Given the description of an element on the screen output the (x, y) to click on. 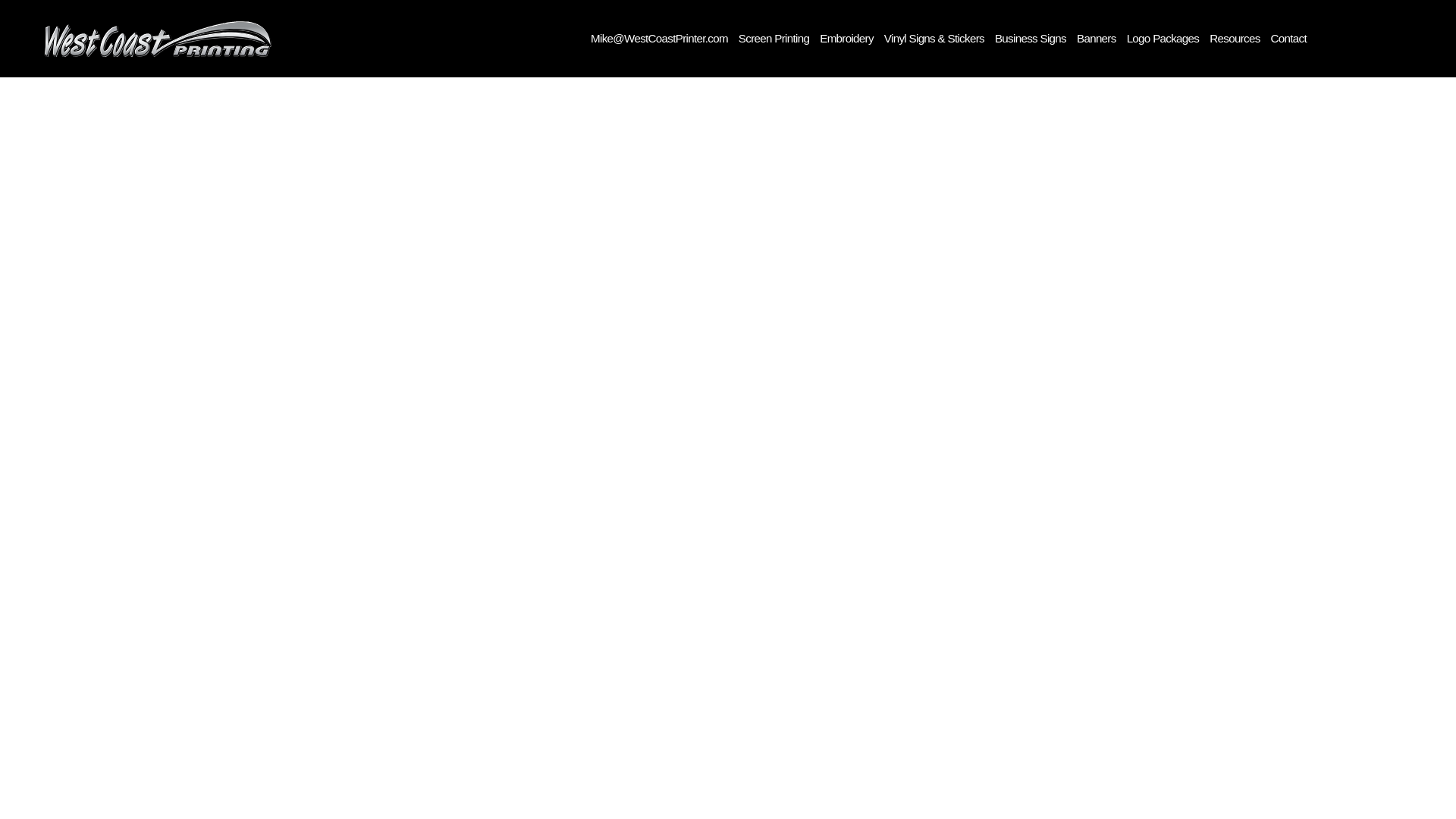
Logo Packages (1162, 38)
Resources (1234, 38)
Banners (1096, 38)
Embroidery (846, 38)
Business Signs (1029, 38)
Screen Printing (773, 38)
Contact (1288, 38)
